Given the description of an element on the screen output the (x, y) to click on. 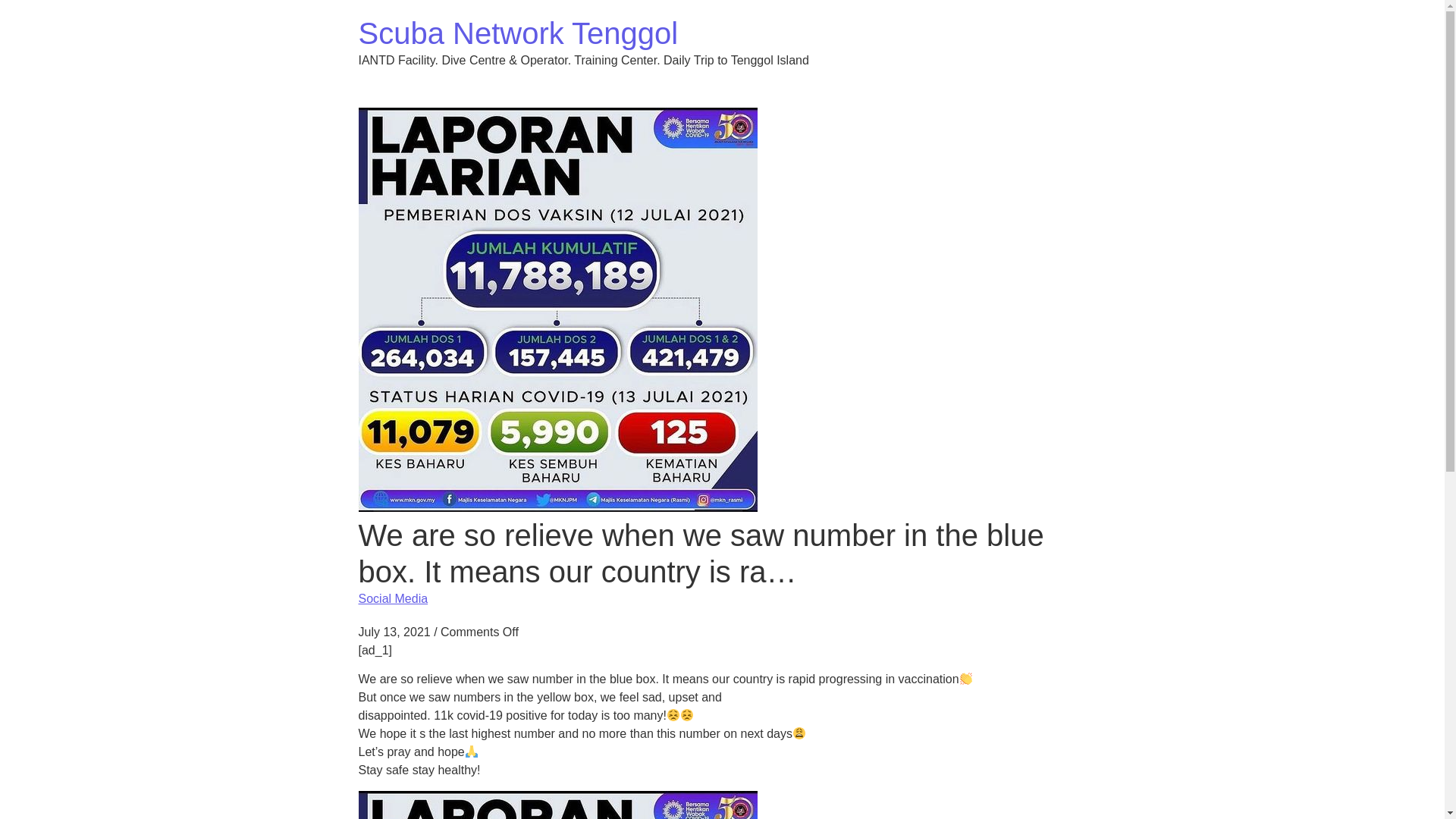
Home (518, 32)
Social Media (393, 598)
Scuba Network Tenggol (518, 32)
